Given the description of an element on the screen output the (x, y) to click on. 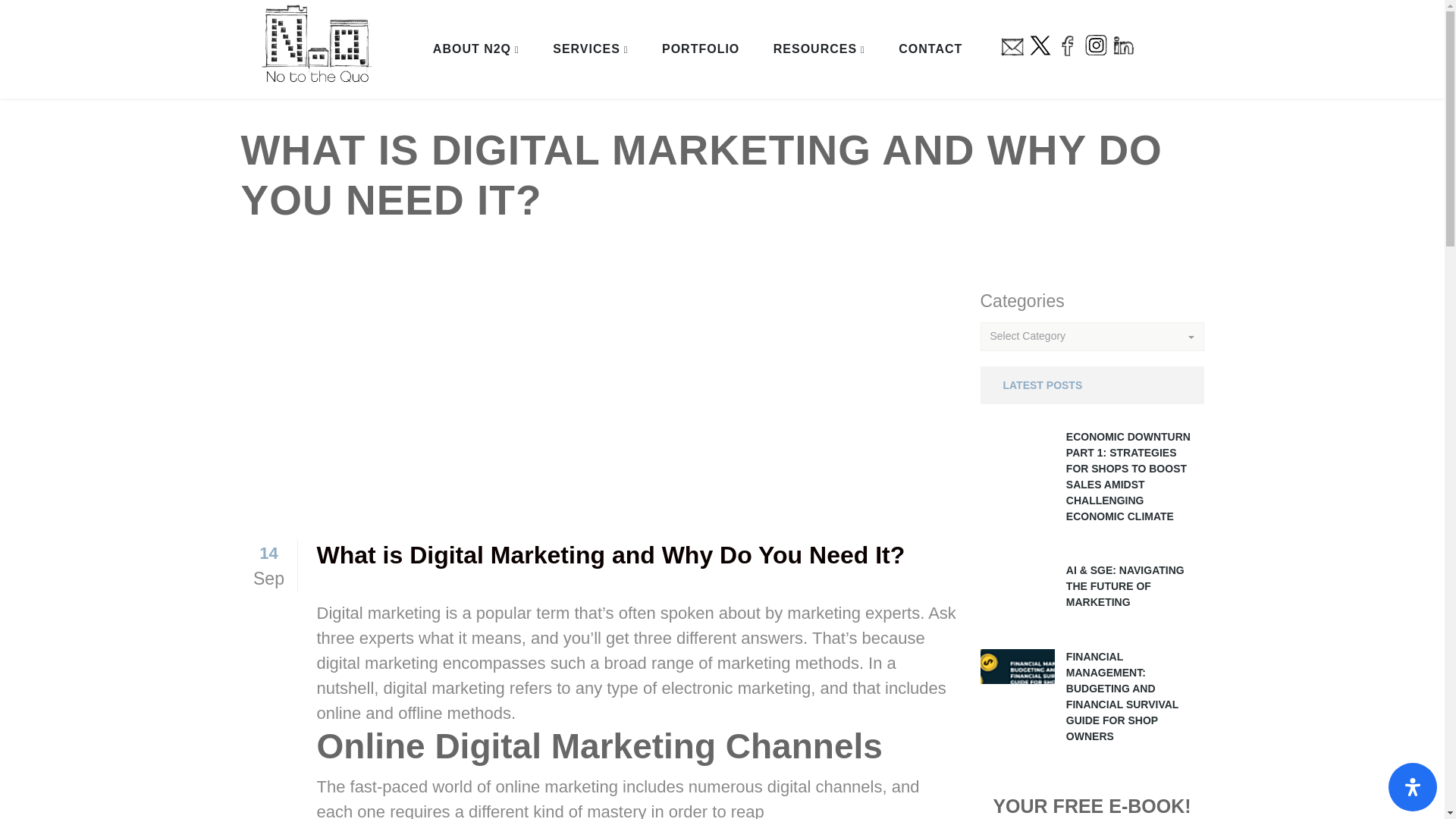
RESOURCES (815, 48)
PORTFOLIO (700, 48)
ABOUT N2Q (471, 48)
CONTACT (930, 48)
Accessibility (1413, 786)
SERVICES (586, 48)
